Given the description of an element on the screen output the (x, y) to click on. 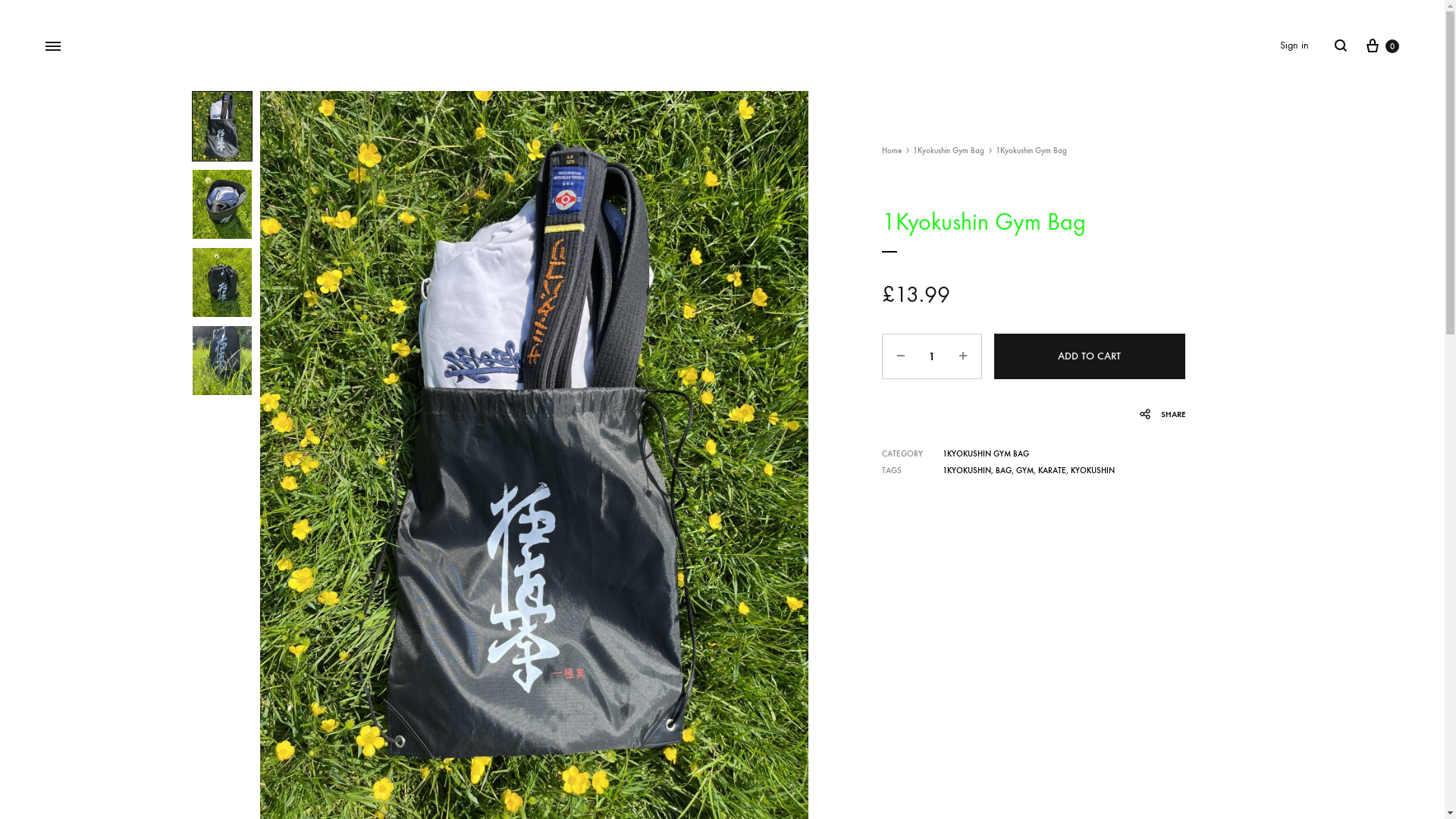
1KYOKUSHIN Element type: text (966, 470)
0 Element type: text (1381, 45)
ADD TO CART Element type: text (1089, 356)
Qty Element type: hover (931, 356)
GYM Element type: text (1024, 470)
KYOKUSHIN Element type: text (1092, 470)
Home Element type: text (891, 150)
1KYOKUSHIN GYM BAG Element type: text (985, 453)
KARATE Element type: text (1052, 470)
Sign in Element type: text (1294, 45)
BAG Element type: text (1003, 470)
1Kyokushin Gym Bag Element type: text (948, 150)
